Given the description of an element on the screen output the (x, y) to click on. 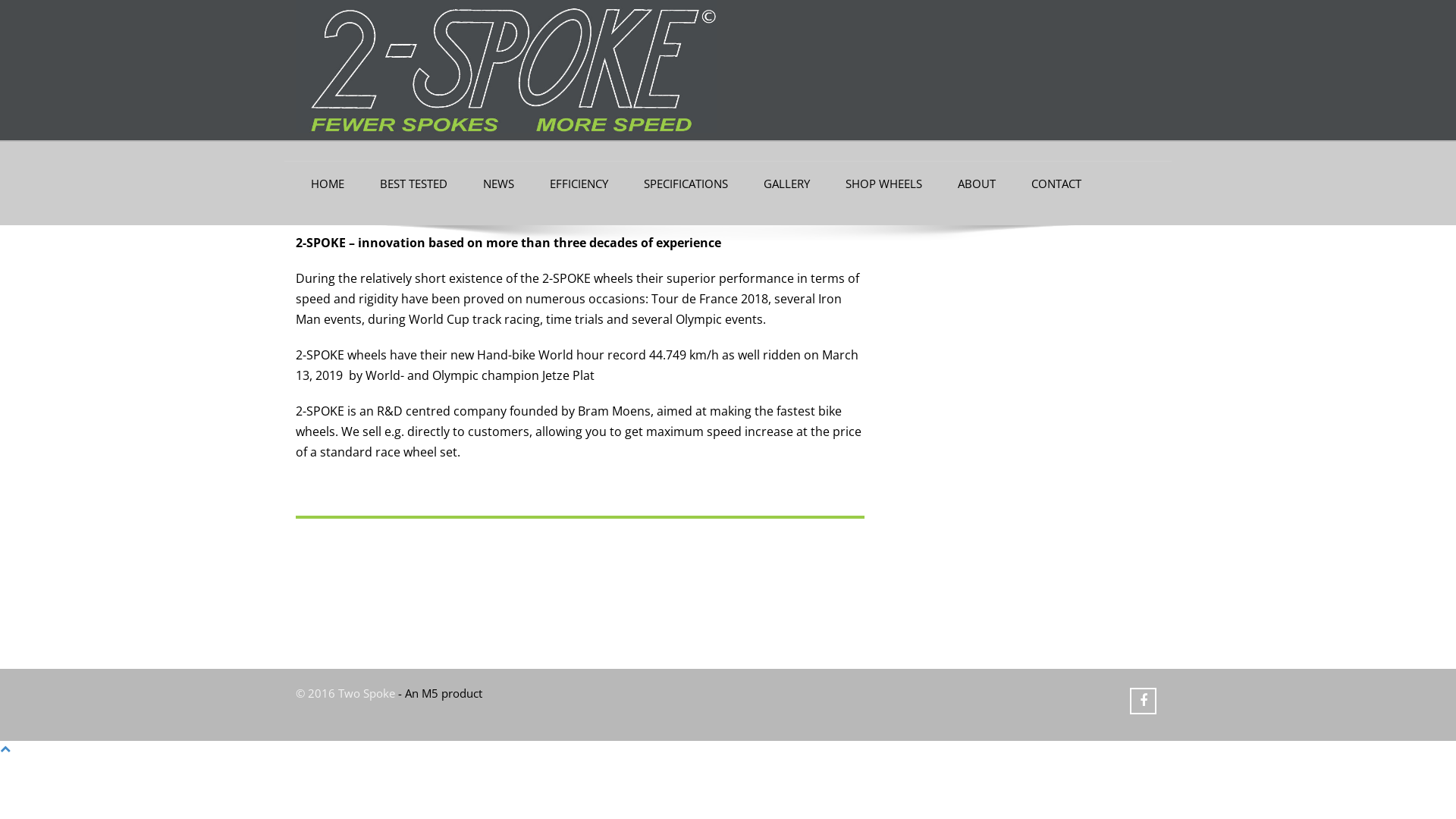
SHOP WHEELS Element type: text (883, 183)
Go Top Element type: hover (5, 747)
Two Spoke Element type: hover (505, 66)
- An M5 product Element type: text (440, 692)
EFFICIENCY Element type: text (578, 183)
CONTACT Element type: text (1056, 183)
HOME Element type: text (327, 183)
ABOUT Element type: text (976, 183)
GALLERY Element type: text (786, 183)
SPECIFICATIONS Element type: text (685, 183)
BEST TESTED Element type: text (413, 183)
NEWS Element type: text (498, 183)
